Given the description of an element on the screen output the (x, y) to click on. 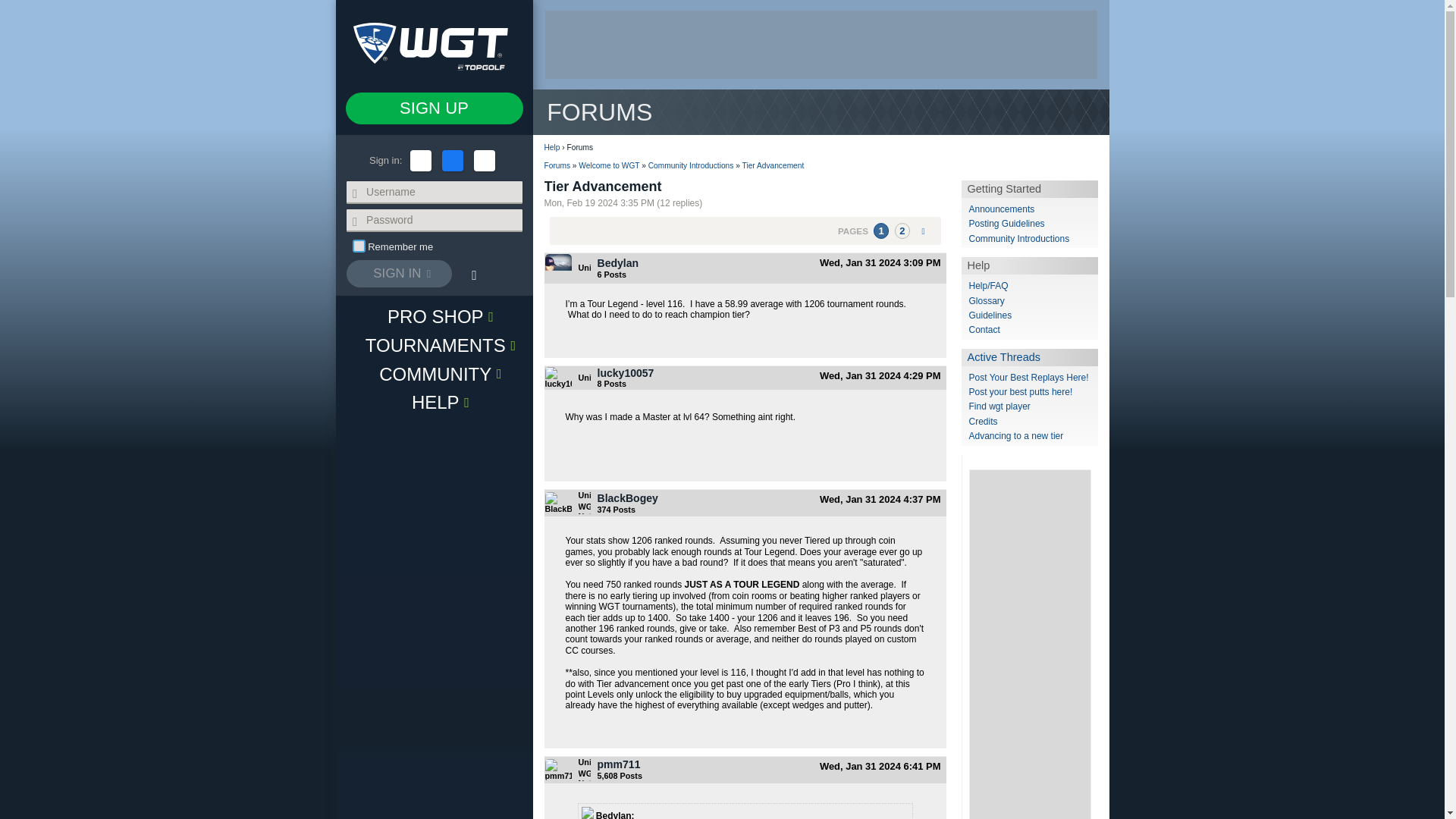
PRO SHOP (433, 316)
Forgot your password? (473, 275)
Sign in with Apple (420, 160)
United States (583, 377)
Sign in with Facebook (452, 160)
SIGN IN (398, 273)
TOURNAMENTS (433, 344)
Home (434, 44)
United States (583, 266)
SIGN UP (434, 108)
Sign in with Google (484, 160)
HELP (433, 401)
COMMUNITY (433, 373)
